Given the description of an element on the screen output the (x, y) to click on. 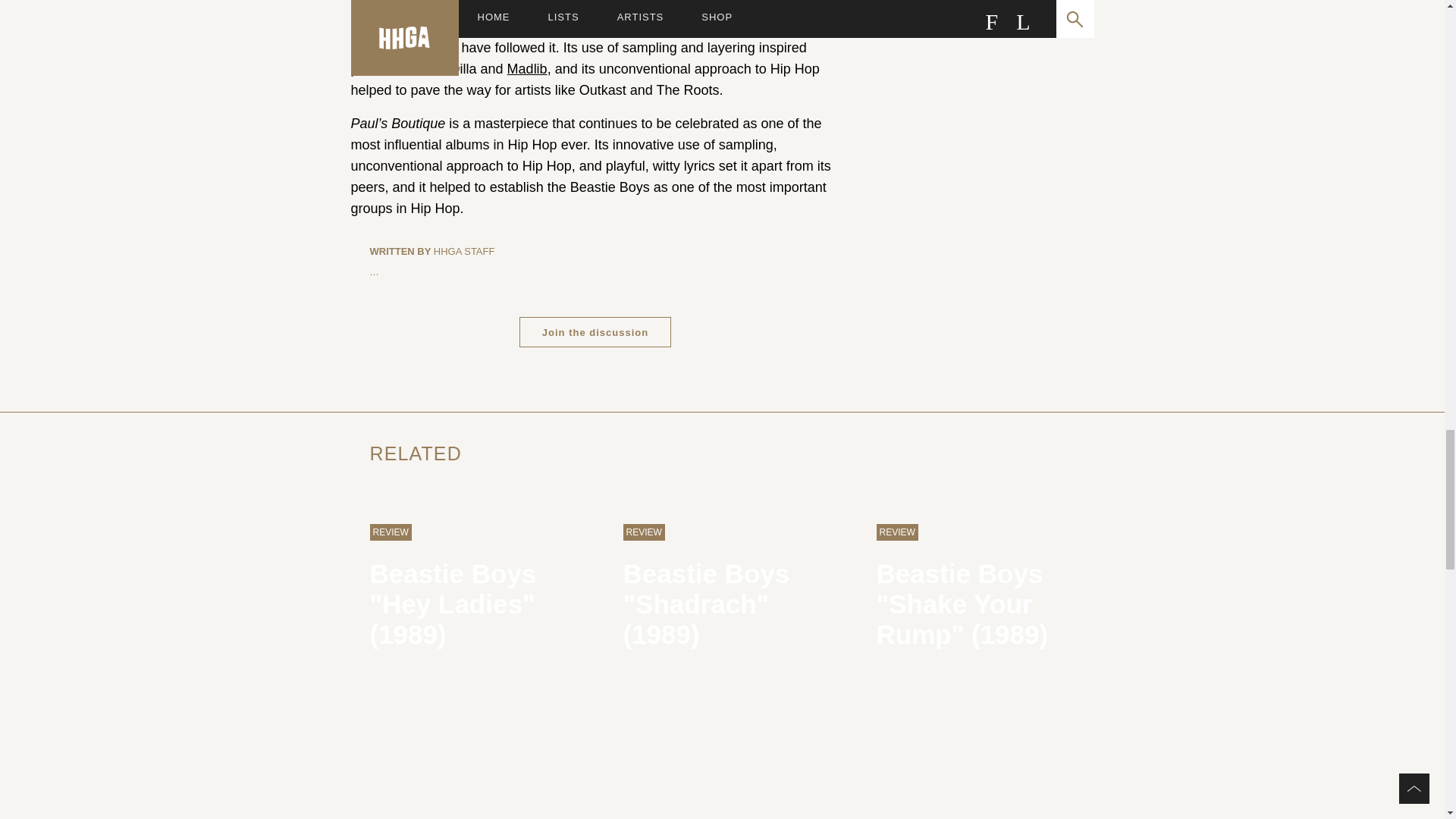
Join the discussion (595, 331)
Madlib (526, 68)
Posts by HHGA Staff (464, 251)
HHGA STAFF (464, 251)
Join the discussion (595, 331)
